Given the description of an element on the screen output the (x, y) to click on. 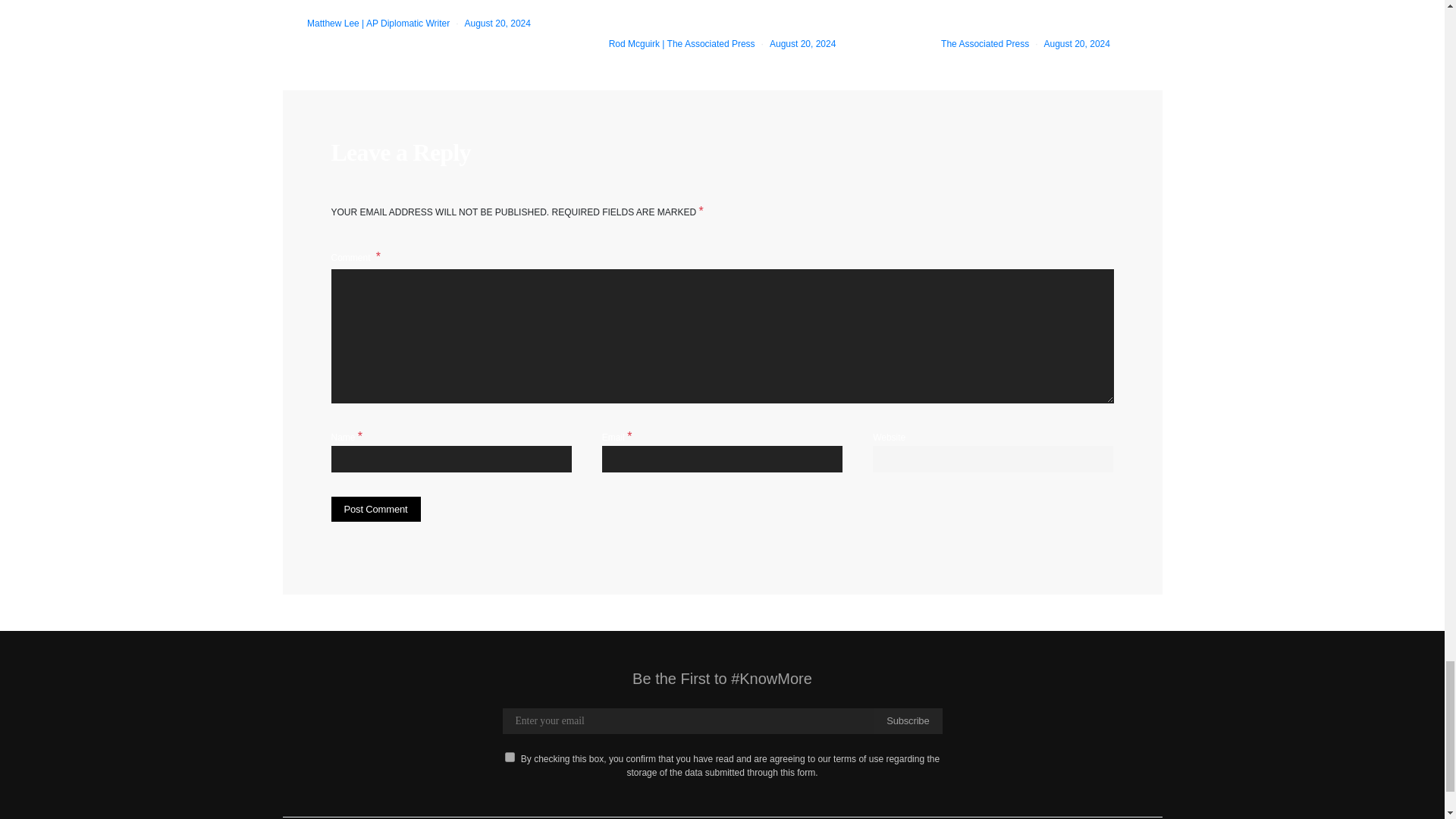
on (510, 757)
View all posts by The Associated Press (984, 43)
Post Comment (375, 509)
